Given the description of an element on the screen output the (x, y) to click on. 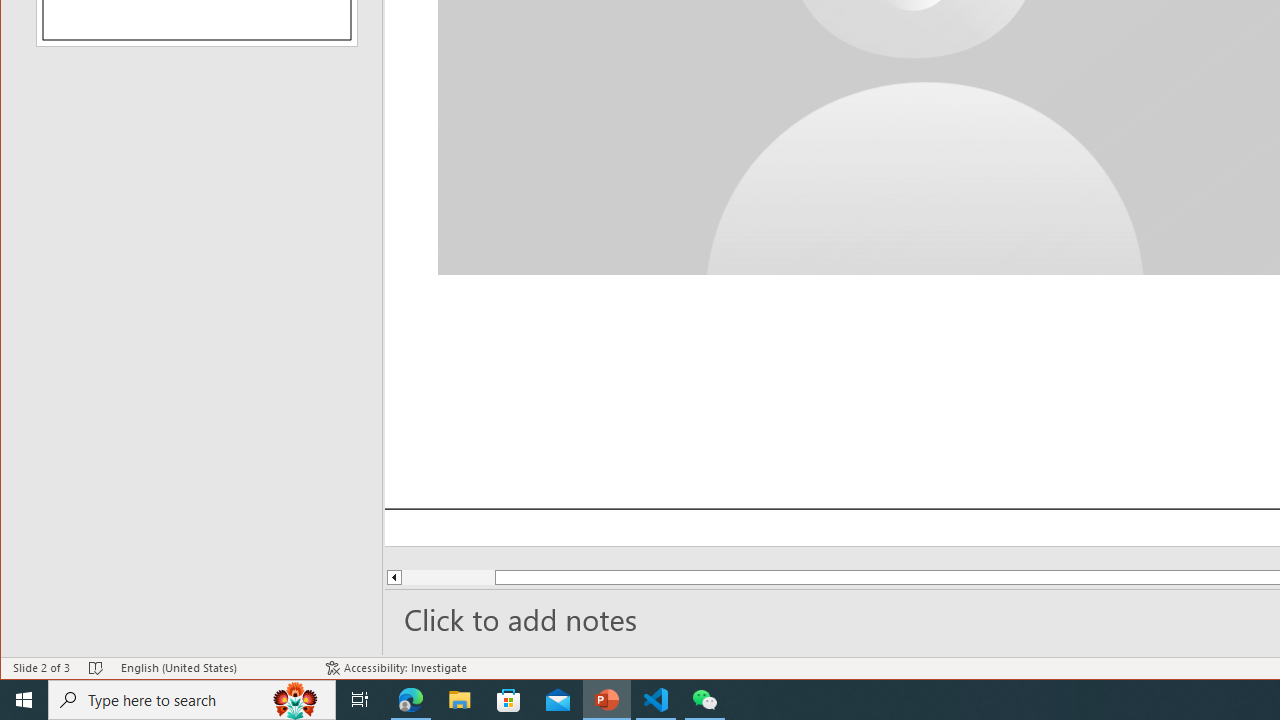
WeChat - 1 running window (704, 699)
